Given the description of an element on the screen output the (x, y) to click on. 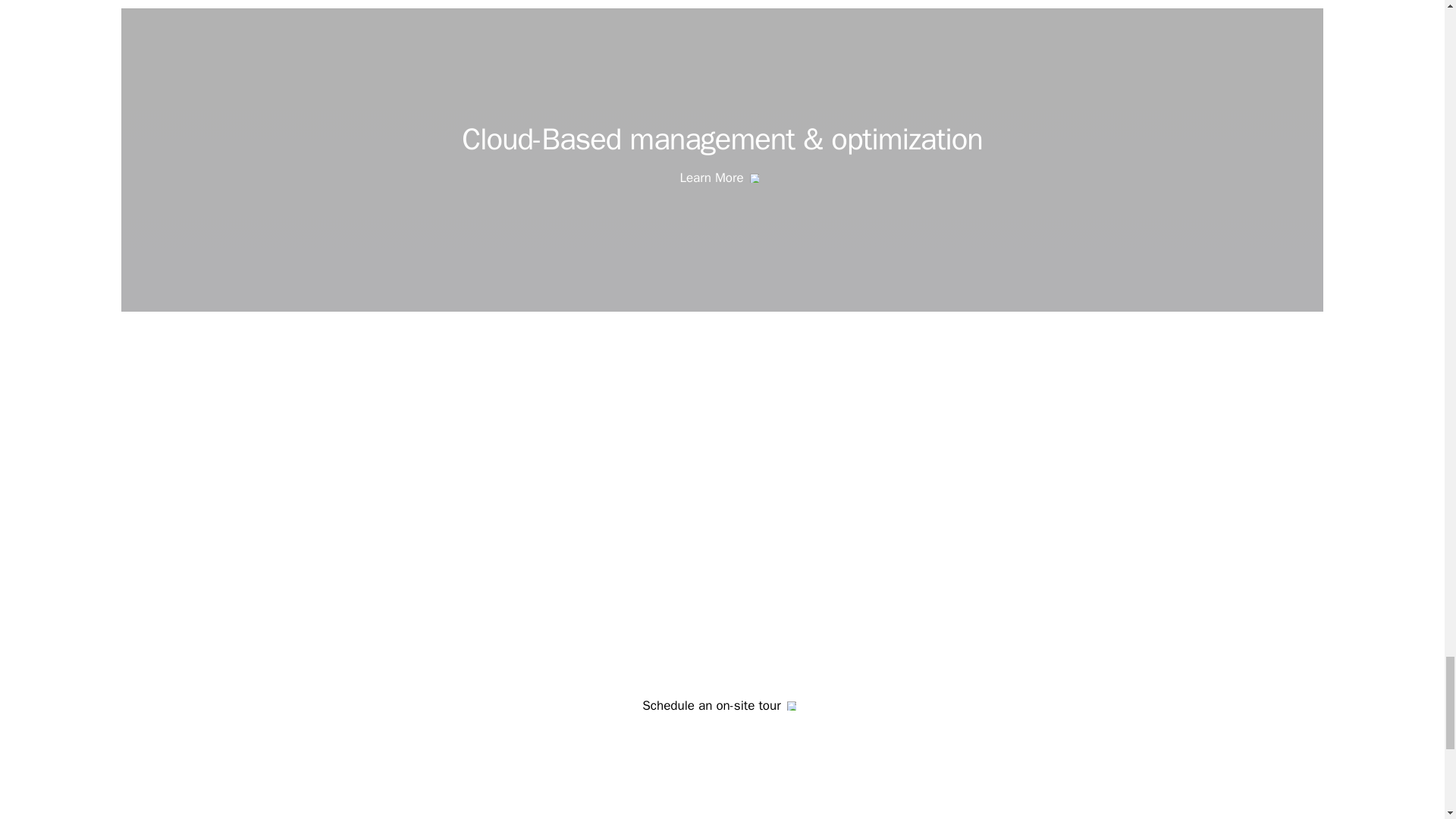
Learn More (721, 178)
Schedule an on-site tour (721, 706)
